Given the description of an element on the screen output the (x, y) to click on. 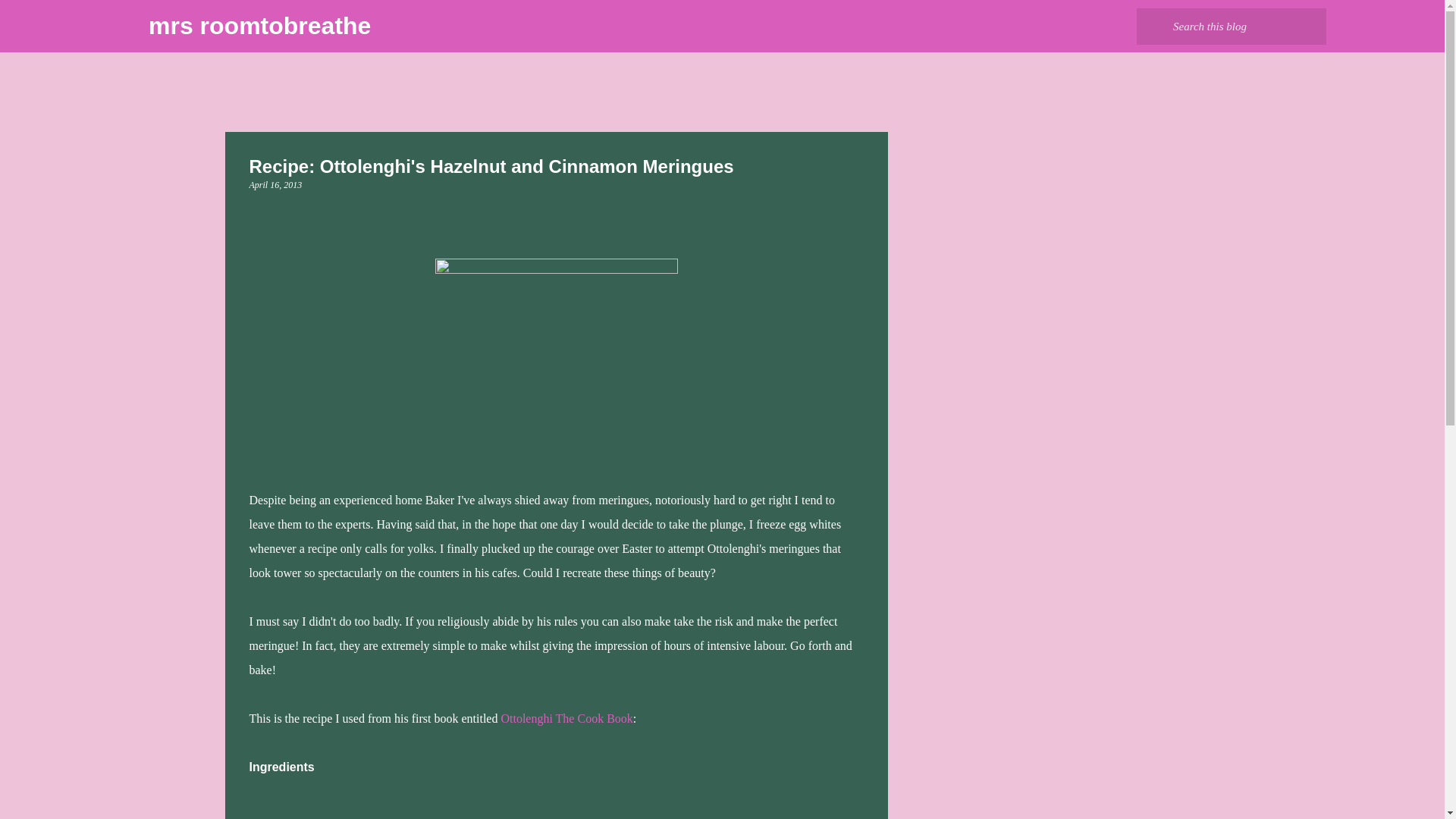
mrs roomtobreathe (259, 25)
April 16, 2013 (274, 184)
Ottolenghi The Cook Book (565, 717)
permanent link (274, 184)
